Given the description of an element on the screen output the (x, y) to click on. 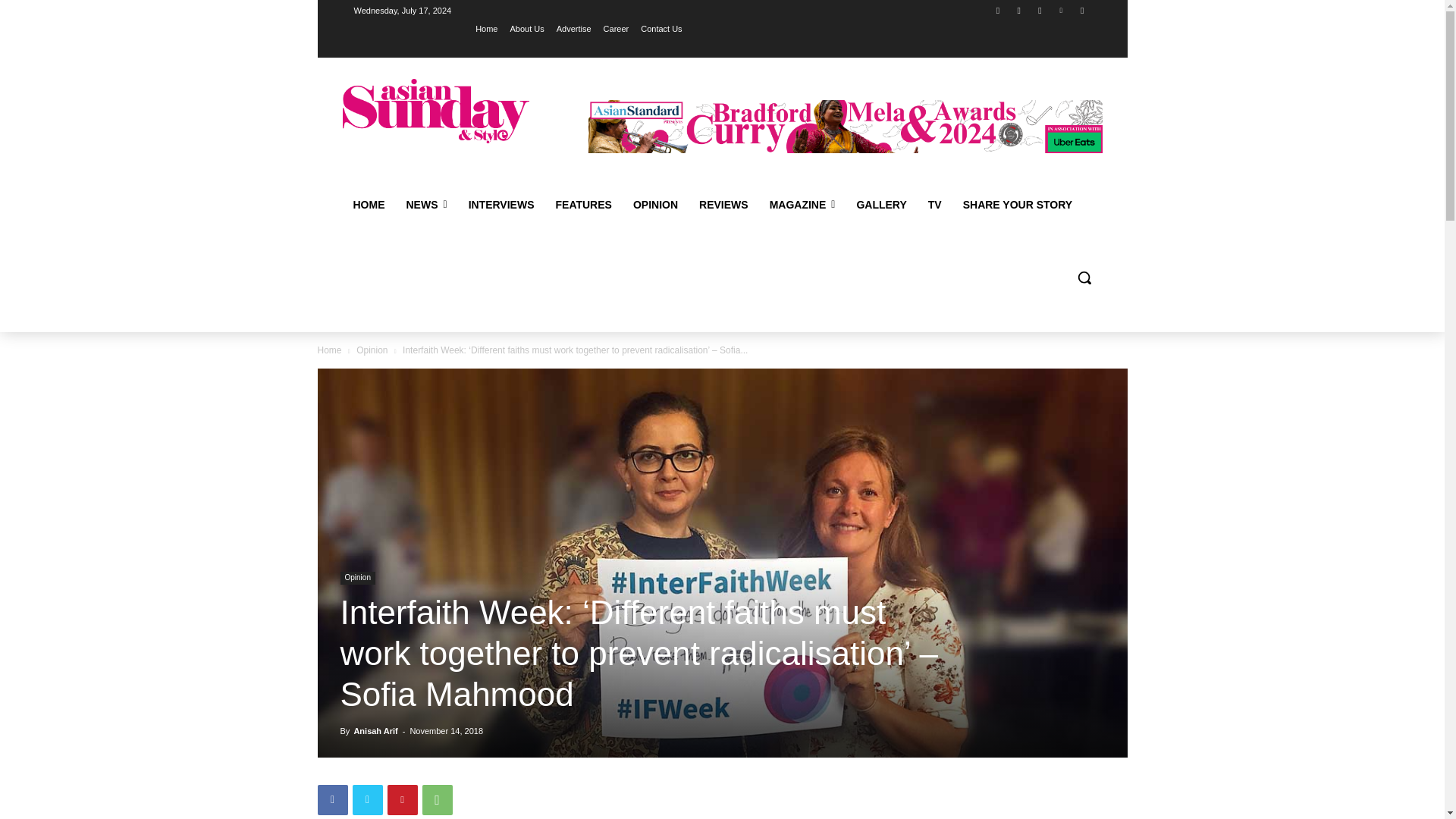
NEWS (427, 204)
HOME (369, 204)
Instagram (1018, 9)
About Us (526, 28)
Vimeo (1061, 9)
Contact Us (660, 28)
Facebook (998, 9)
Youtube (1082, 9)
Advertise (573, 28)
View all posts in Opinion (371, 348)
